Given the description of an element on the screen output the (x, y) to click on. 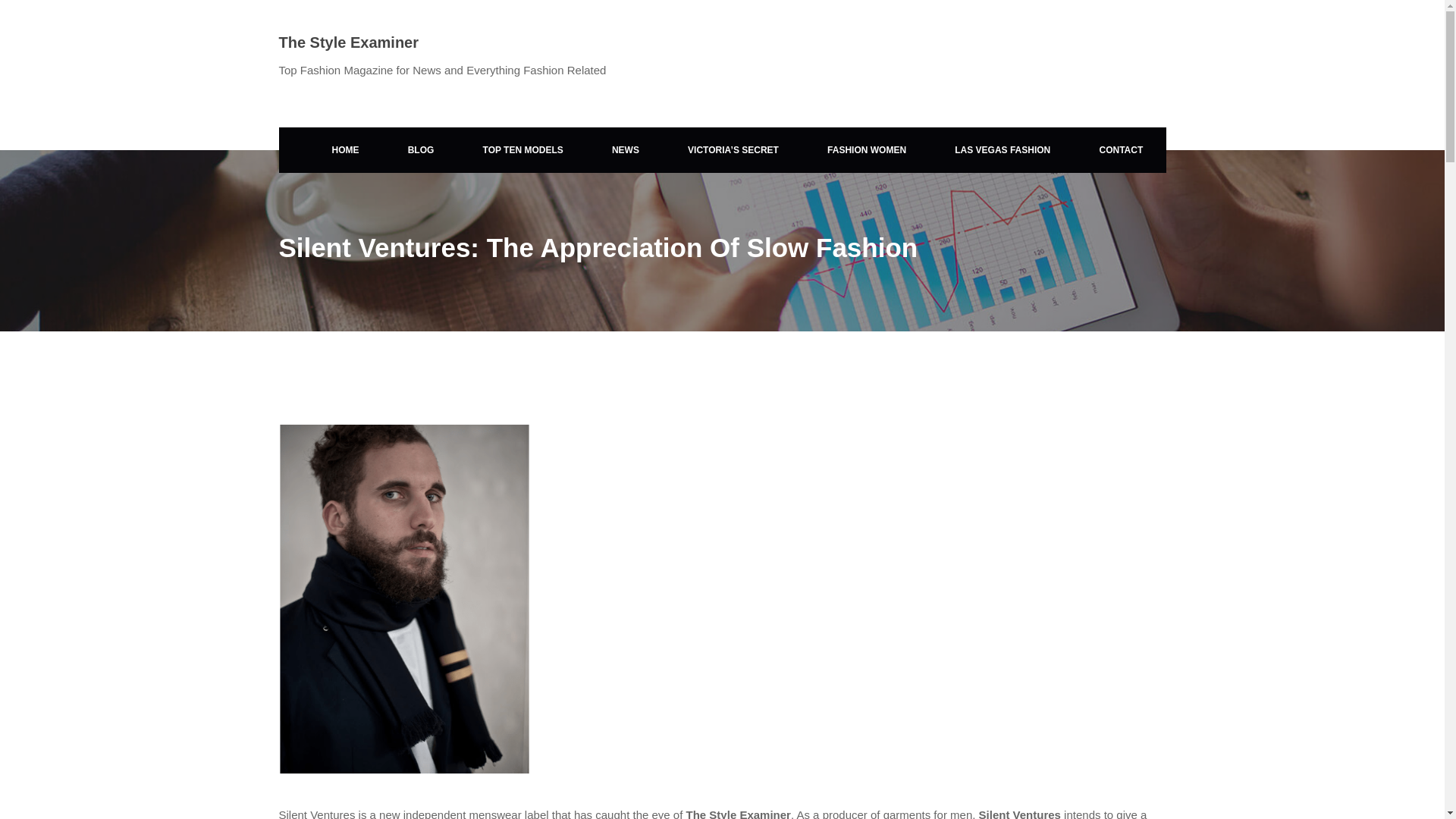
LAS VEGAS FASHION (1002, 149)
BLOG (421, 149)
NEWS (625, 149)
The Style Examiner (349, 42)
CONTACT (1120, 149)
TOP TEN MODELS (523, 149)
HOME (344, 149)
FASHION WOMEN (866, 149)
